Given the description of an element on the screen output the (x, y) to click on. 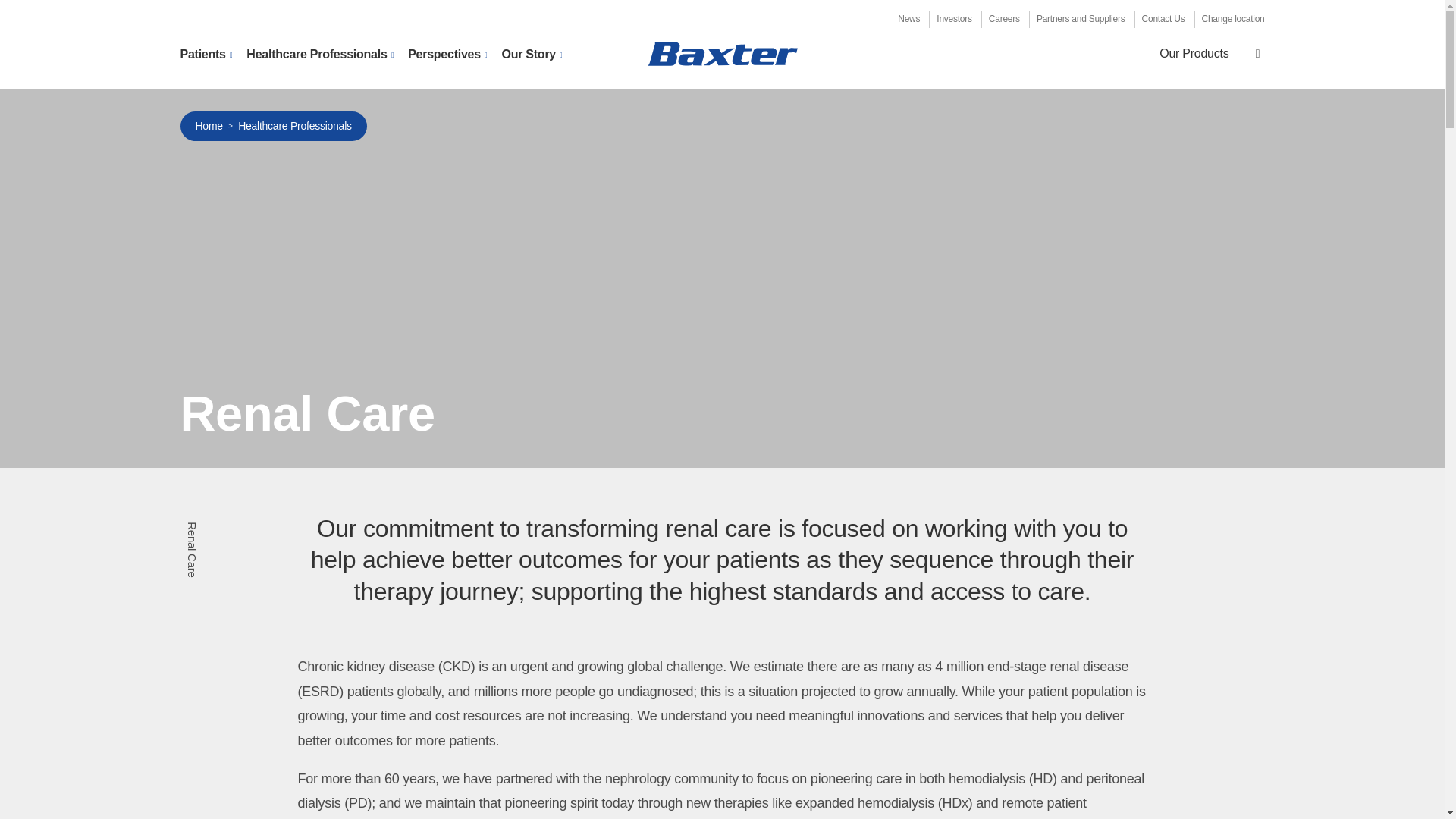
Our Products (1193, 52)
Careers (1004, 18)
Our Story (531, 55)
Healthcare Professionals (319, 55)
Investors (953, 18)
Perspectives (446, 55)
Home (721, 53)
News (909, 18)
Contact Us (1163, 18)
Change location (1233, 18)
